Given the description of an element on the screen output the (x, y) to click on. 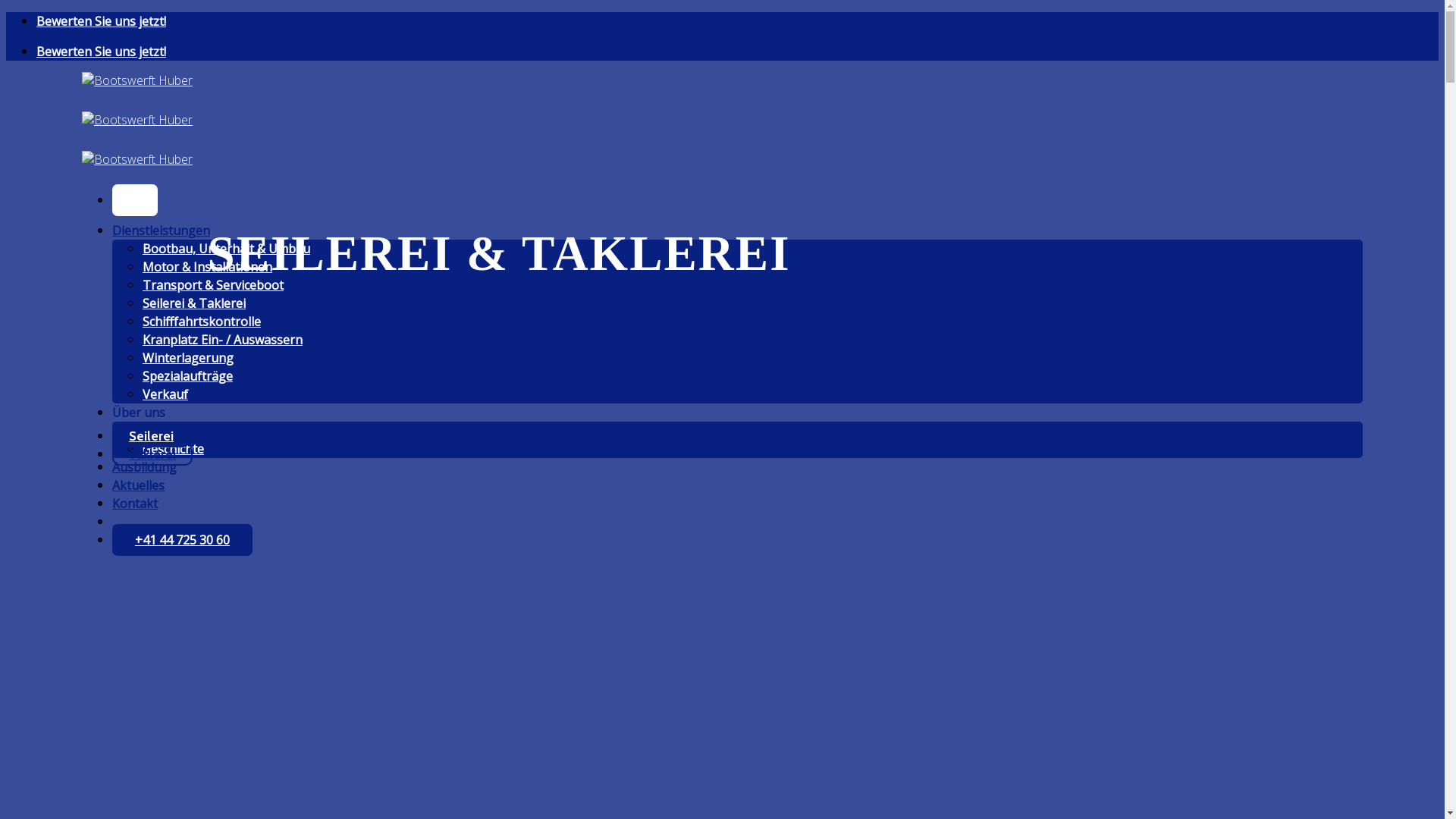
Kranplatz Ein- / Auswassern Element type: text (222, 339)
Bootswerft Huber Element type: hover (136, 119)
Seilerei & Taklerei Element type: text (193, 302)
Taklerei Element type: text (152, 453)
Bootbau, Unterhalt & Umbau Element type: text (226, 248)
Winterlagerung Element type: text (187, 357)
Team Element type: text (158, 430)
Motor & Installationen Element type: text (207, 266)
Geschichte Element type: text (172, 448)
+41 44 725 30 60 Element type: text (182, 539)
Skip to content Element type: text (5, 11)
Dienstleistungen Element type: text (161, 230)
Verkauf Element type: text (165, 393)
Bewerten Sie uns jetzt! Element type: text (101, 20)
Aktuelles Element type: text (138, 484)
Schifffahrtskontrolle Element type: text (201, 321)
Transport & Serviceboot Element type: text (212, 284)
Bewerten Sie uns jetzt! Element type: text (101, 51)
Seilerei Element type: text (151, 435)
Kontakt Element type: text (134, 503)
Ausbildung Element type: text (144, 466)
